Given the description of an element on the screen output the (x, y) to click on. 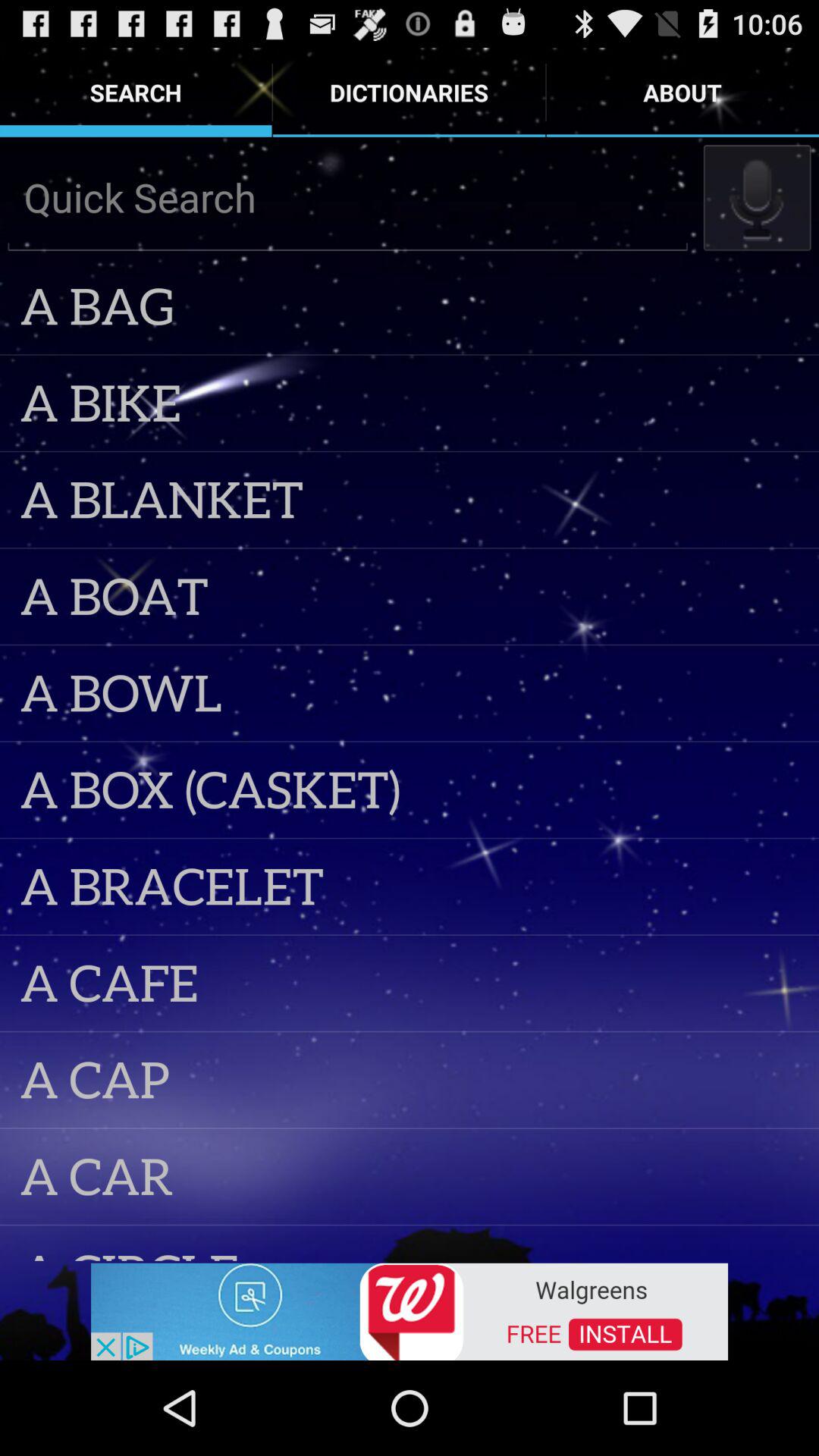
enter quick search (347, 197)
